Given the description of an element on the screen output the (x, y) to click on. 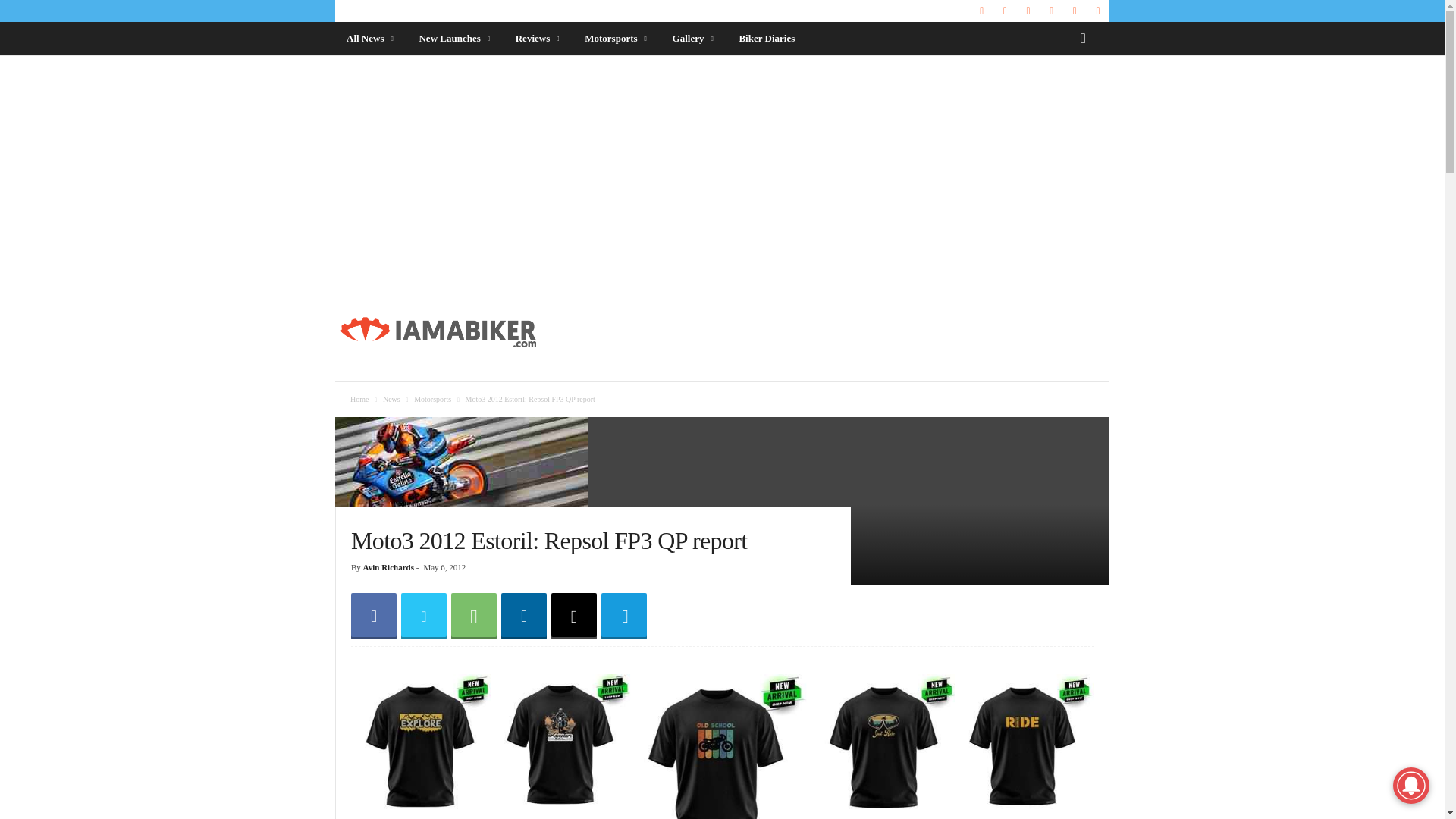
CONTACT US (441, 10)
TERMS AND CONDITIONS (658, 10)
KNOW THE TEAM (370, 10)
All News (370, 38)
